Given the description of an element on the screen output the (x, y) to click on. 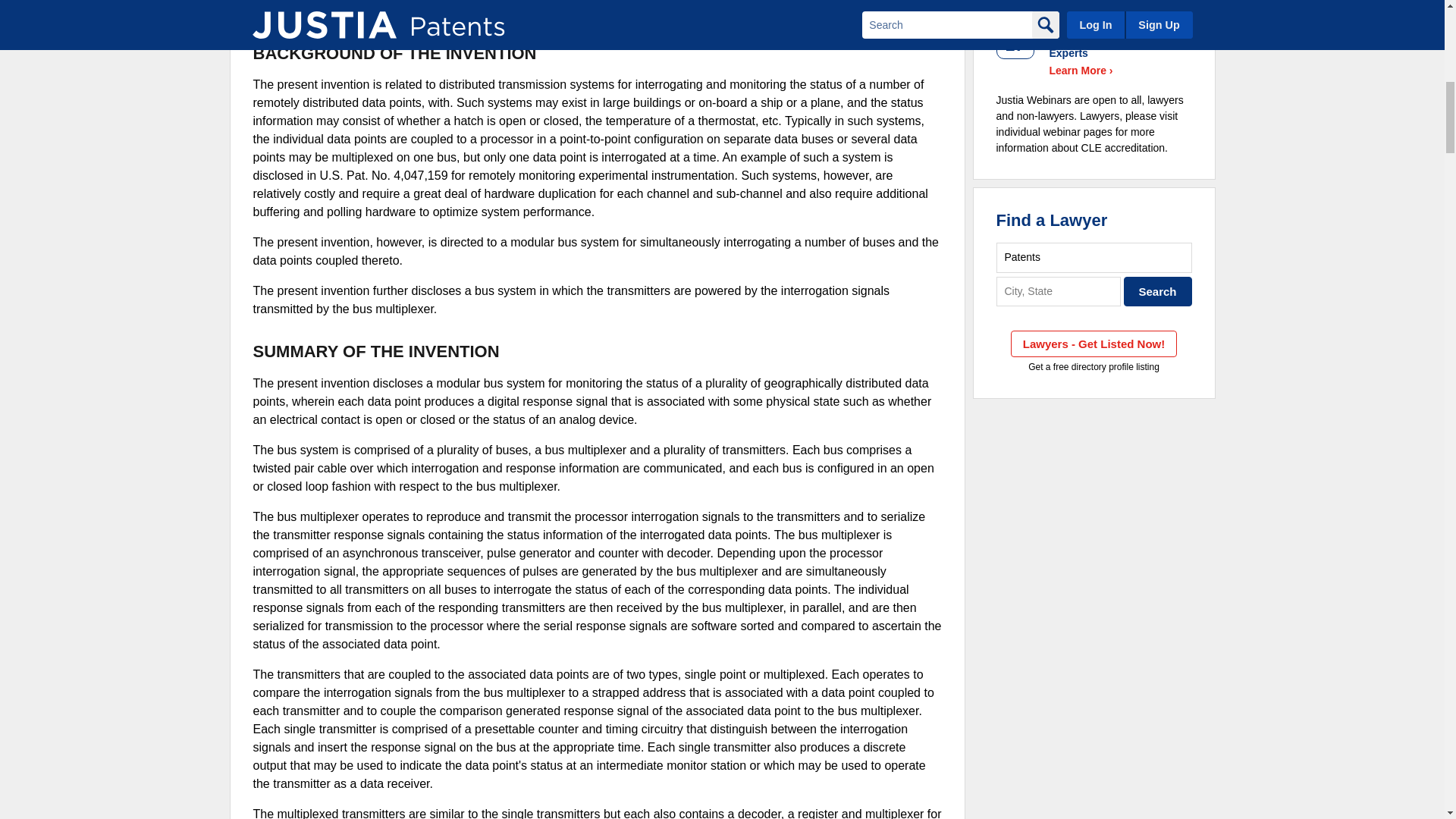
City, State (1058, 291)
Patents (1093, 256)
Search (1158, 291)
Legal Issue or Lawyer Name (1093, 256)
Search (1158, 291)
